Given the description of an element on the screen output the (x, y) to click on. 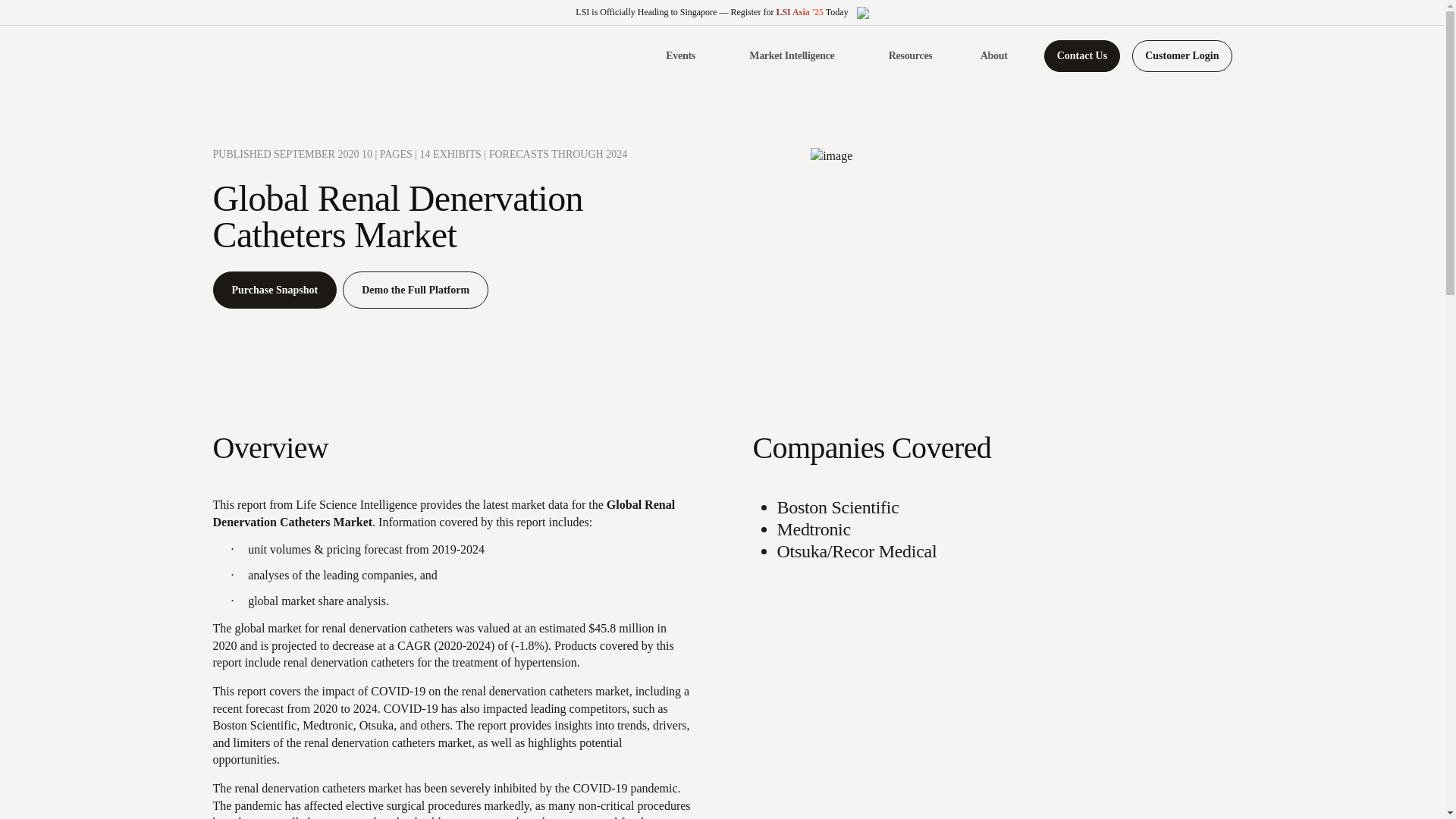
Purchase Snapshot (274, 290)
Events (689, 55)
Demo the Full Platform (414, 290)
Market Intelligence (800, 55)
Customer Login (1181, 56)
Contact Us (1082, 56)
About (993, 55)
Resources (919, 55)
